Given the description of an element on the screen output the (x, y) to click on. 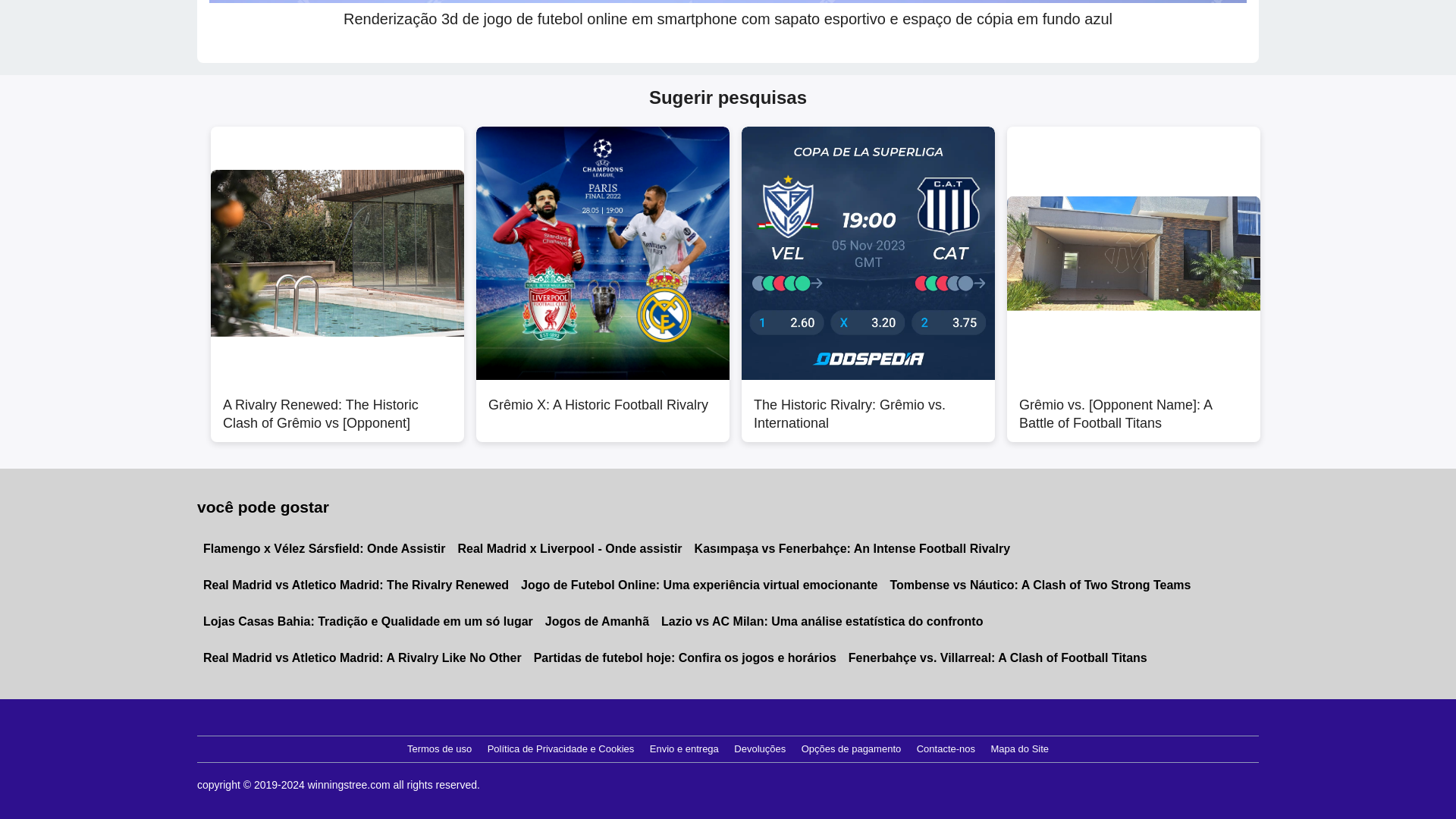
Real Madrid x Liverpool - Onde assistir (569, 548)
Contacte-nos (946, 749)
Envio e entrega (684, 749)
Termos de uso (439, 749)
Real Madrid vs Atletico Madrid: The Rivalry Renewed (355, 585)
Real Madrid vs Atletico Madrid: A Rivalry Like No Other (361, 657)
